Given the description of an element on the screen output the (x, y) to click on. 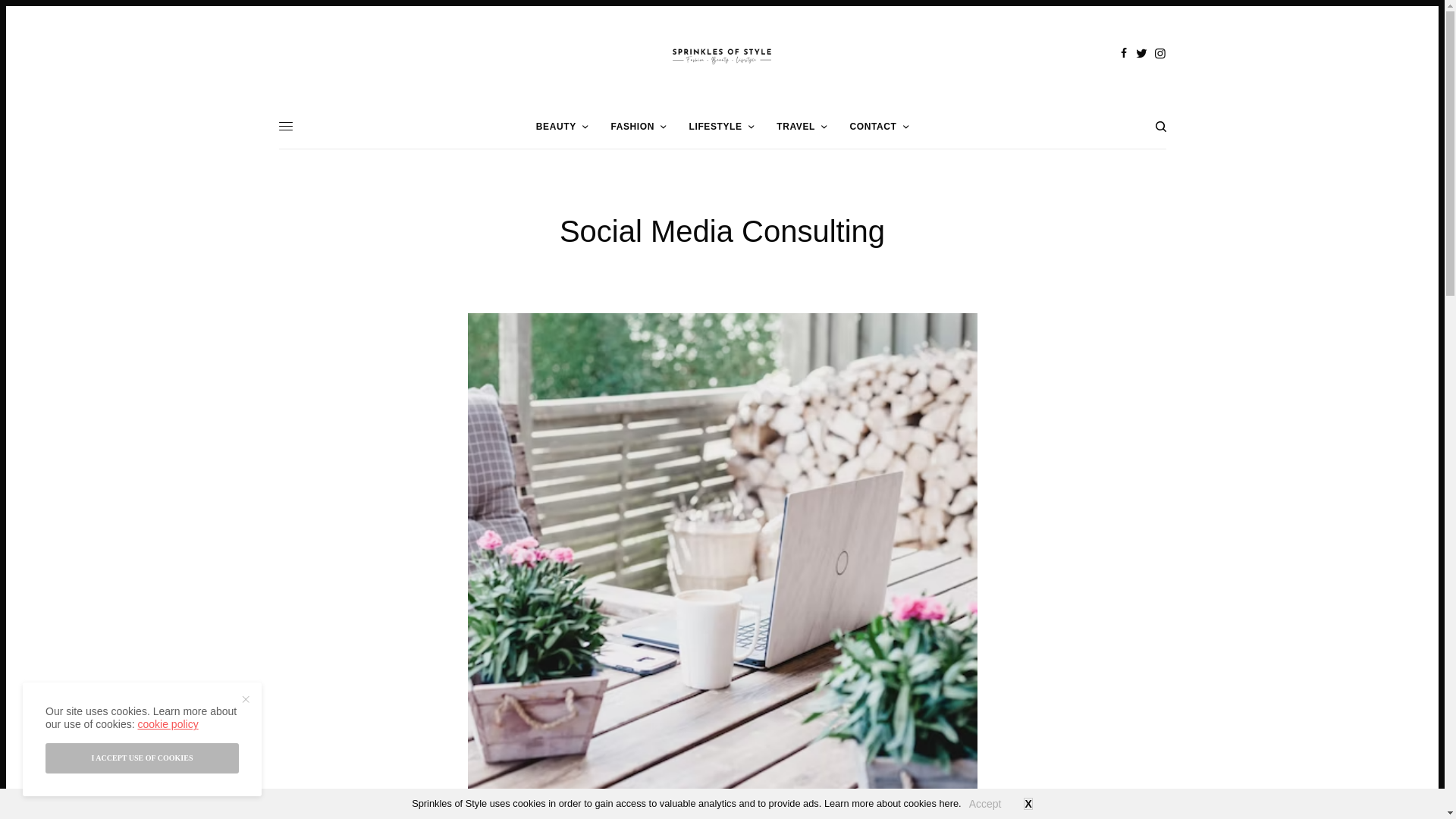
BEAUTY (561, 125)
FASHION (637, 125)
